Given the description of an element on the screen output the (x, y) to click on. 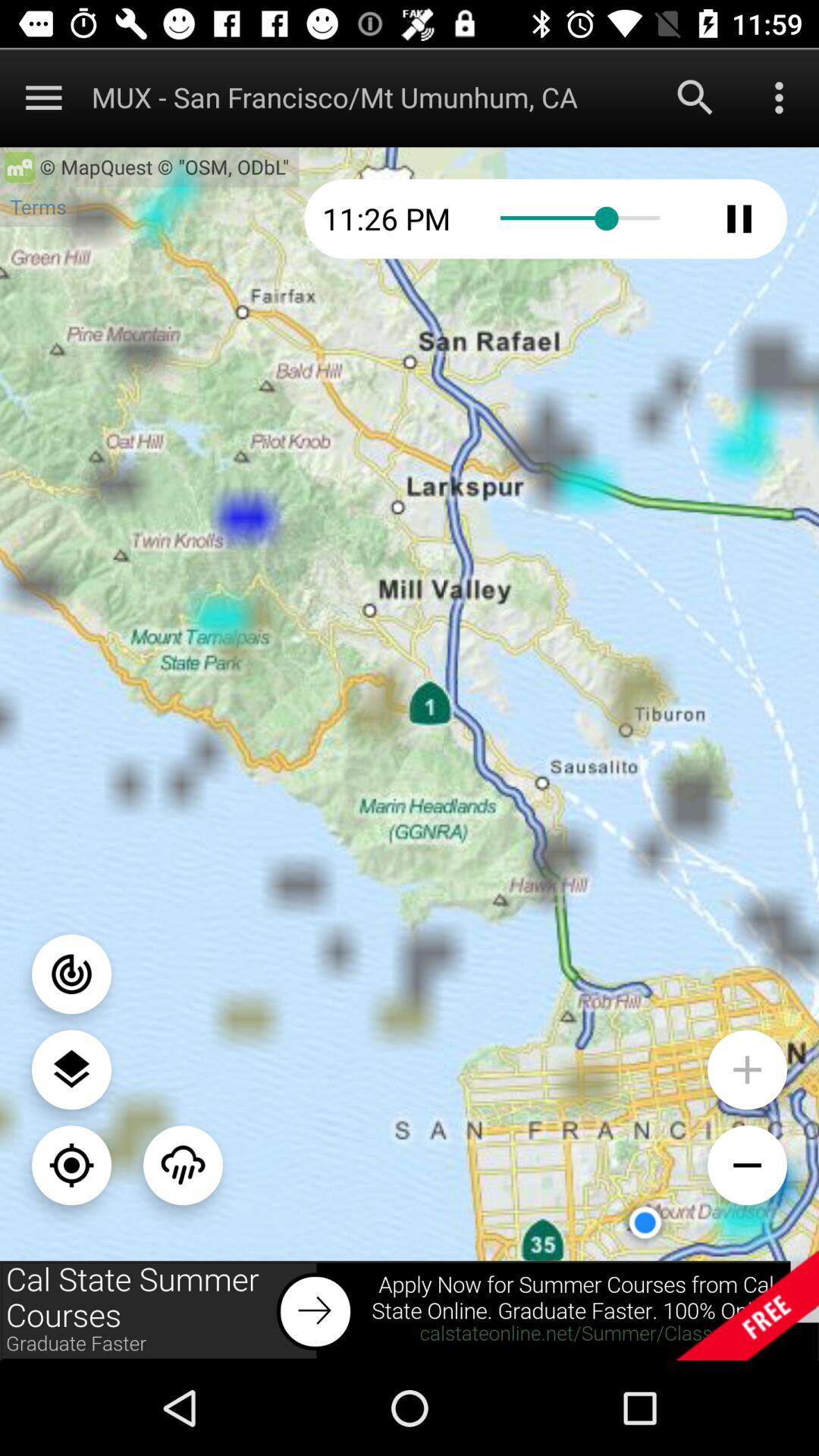
zoom in (747, 1069)
